Given the description of an element on the screen output the (x, y) to click on. 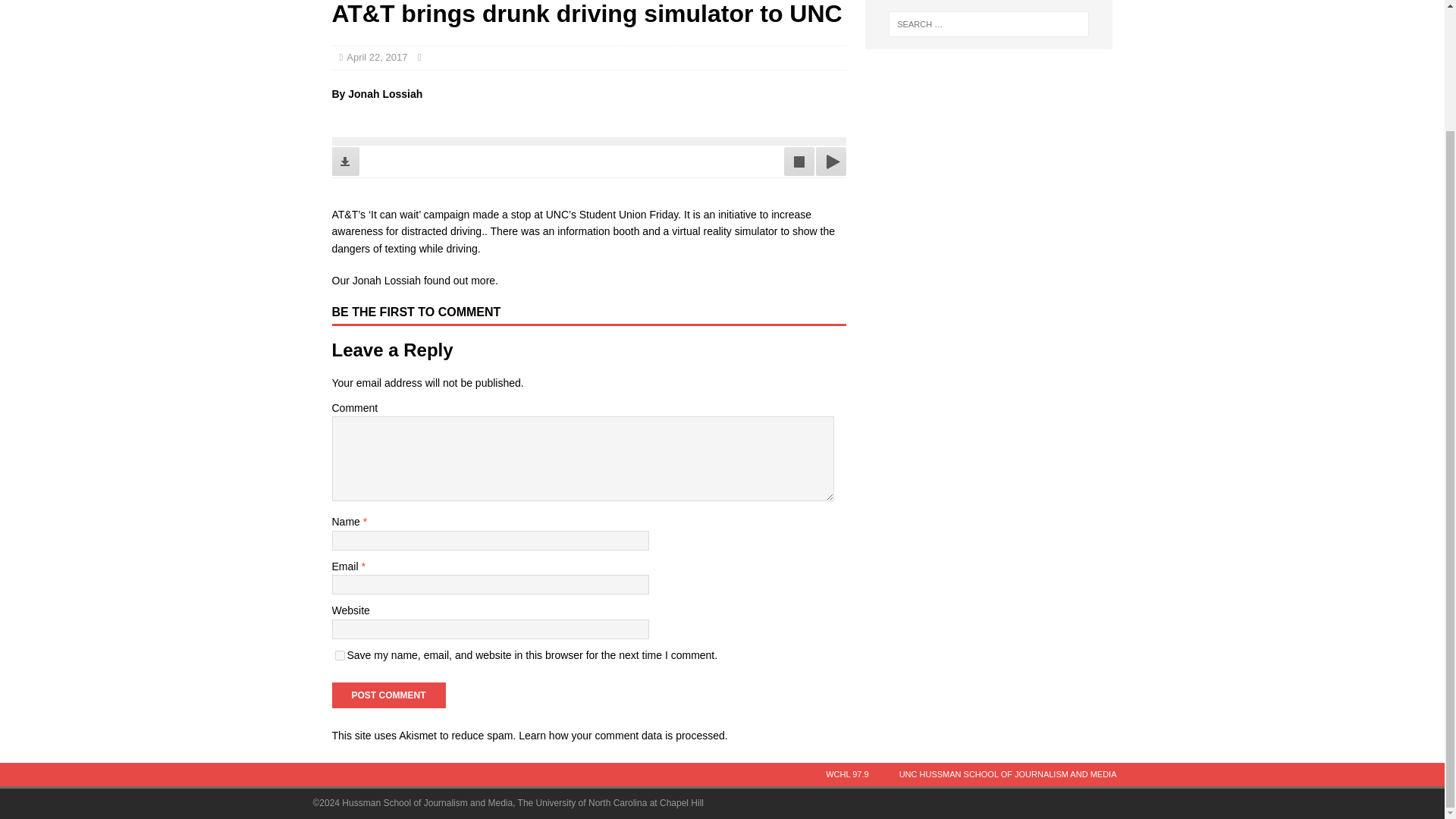
Post Comment (388, 695)
April 22, 2017 (376, 57)
Post Comment (388, 695)
yes (339, 655)
UNC HUSSMAN SCHOOL OF JOURNALISM AND MEDIA (1007, 774)
Learn how your comment data is processed (621, 735)
WCHL 97.9 (846, 774)
